Given the description of an element on the screen output the (x, y) to click on. 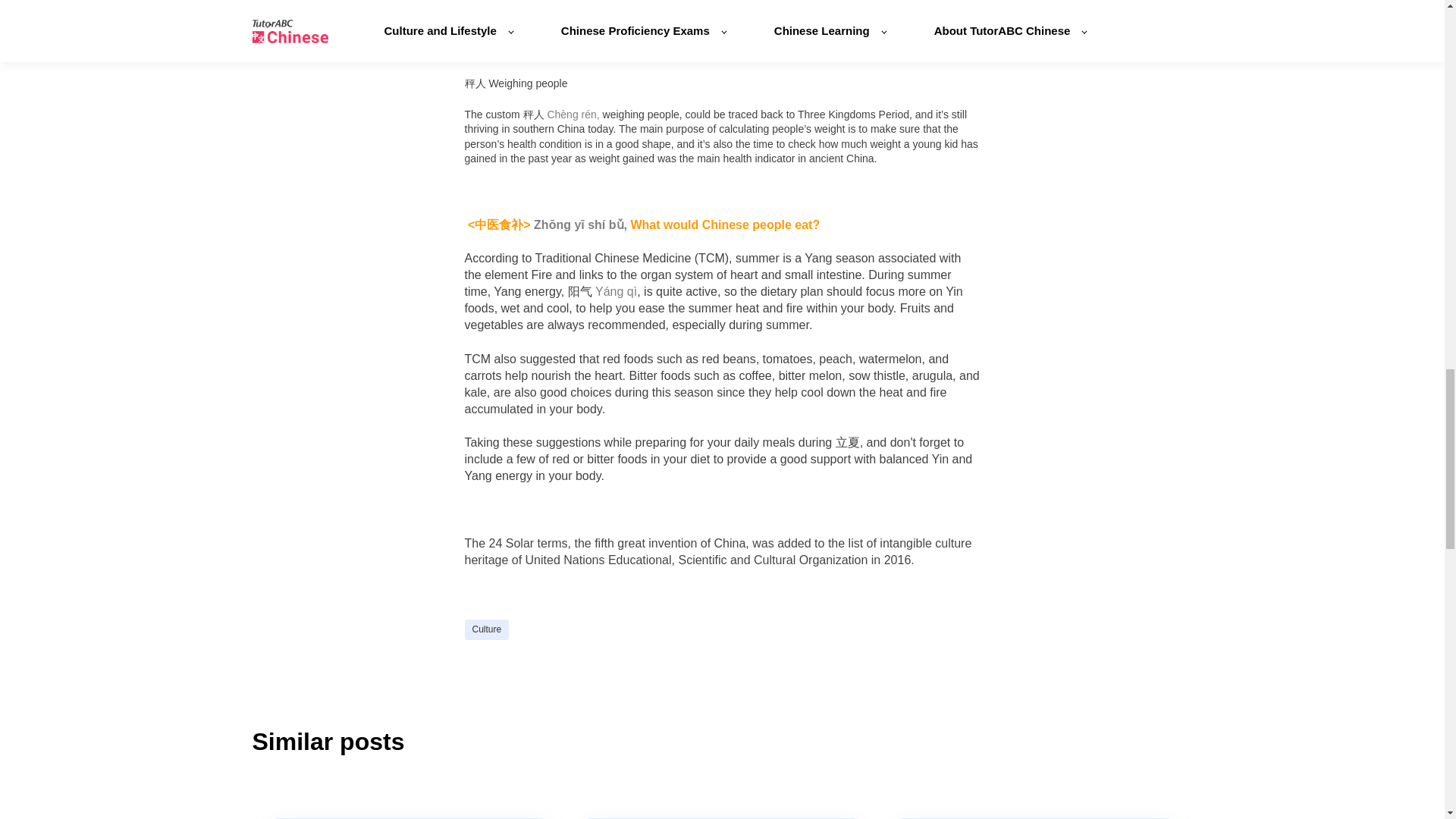
Culture (486, 629)
